Given the description of an element on the screen output the (x, y) to click on. 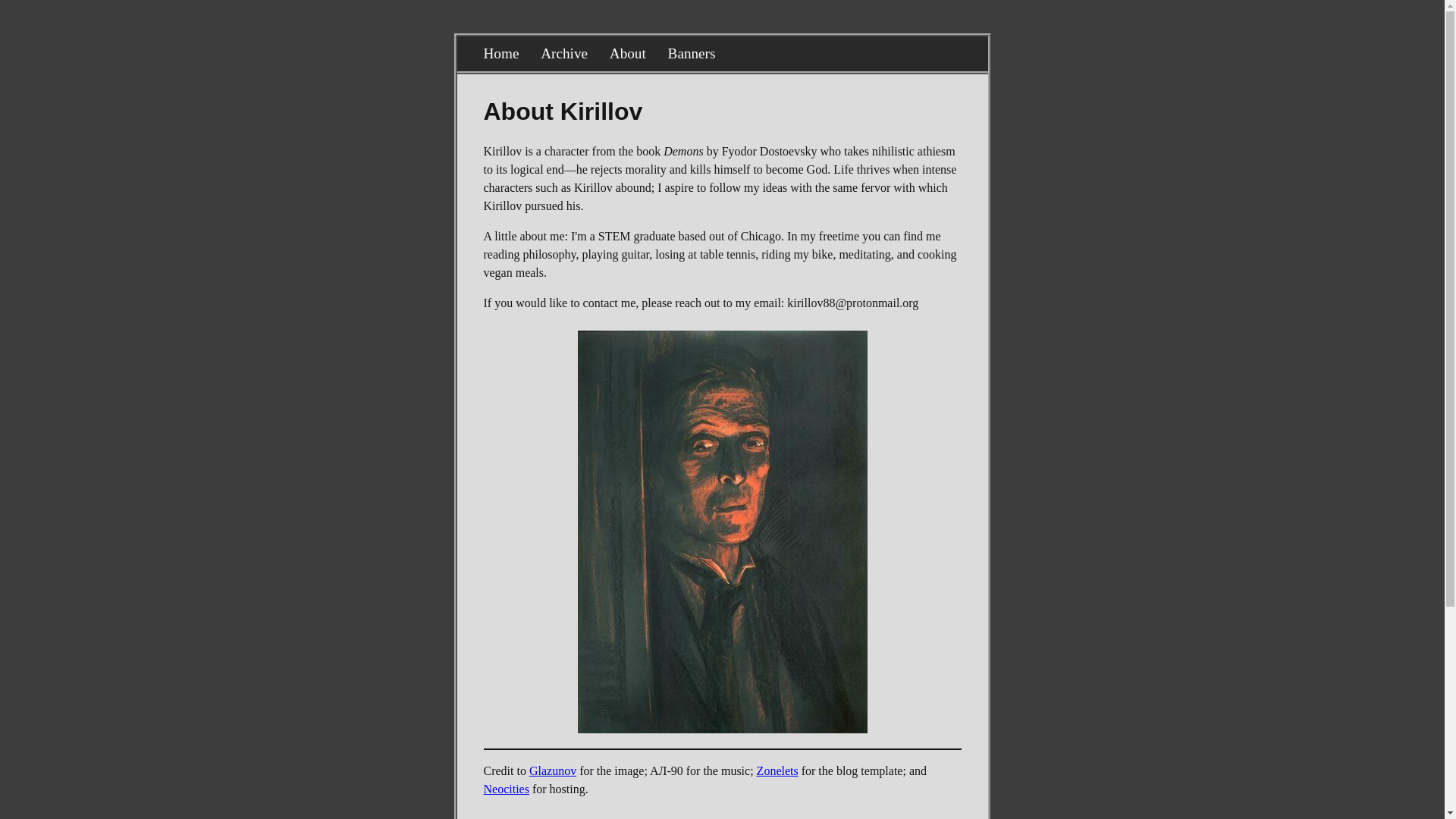
Banners (692, 53)
Zonelets (777, 770)
Glazunov (552, 770)
Archive (564, 53)
About (628, 53)
Neocities (506, 788)
Home (501, 53)
